Given the description of an element on the screen output the (x, y) to click on. 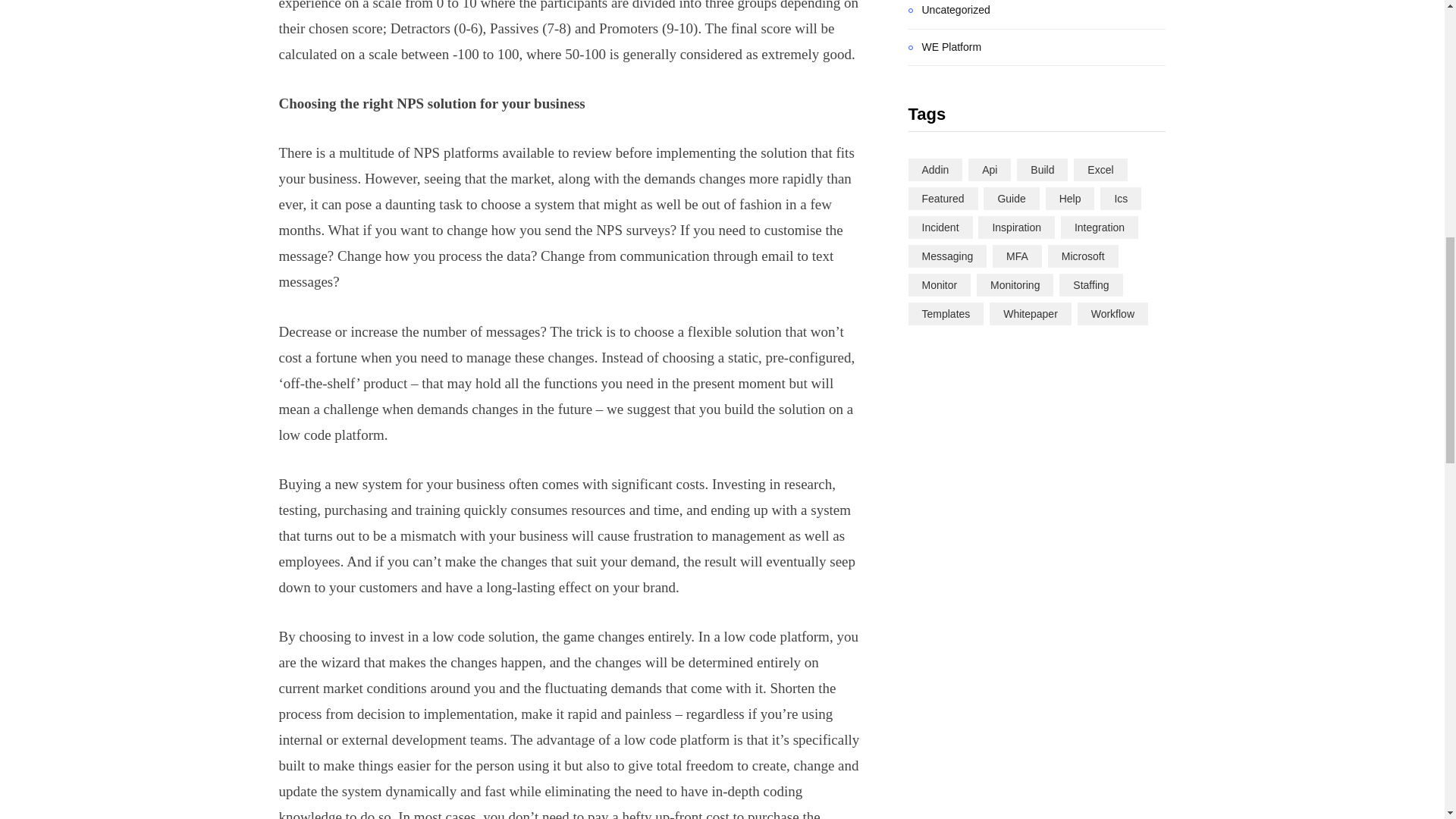
WE Platform (944, 47)
Addin (935, 169)
Uncategorized (949, 10)
Api (989, 169)
Build (1041, 169)
